Given the description of an element on the screen output the (x, y) to click on. 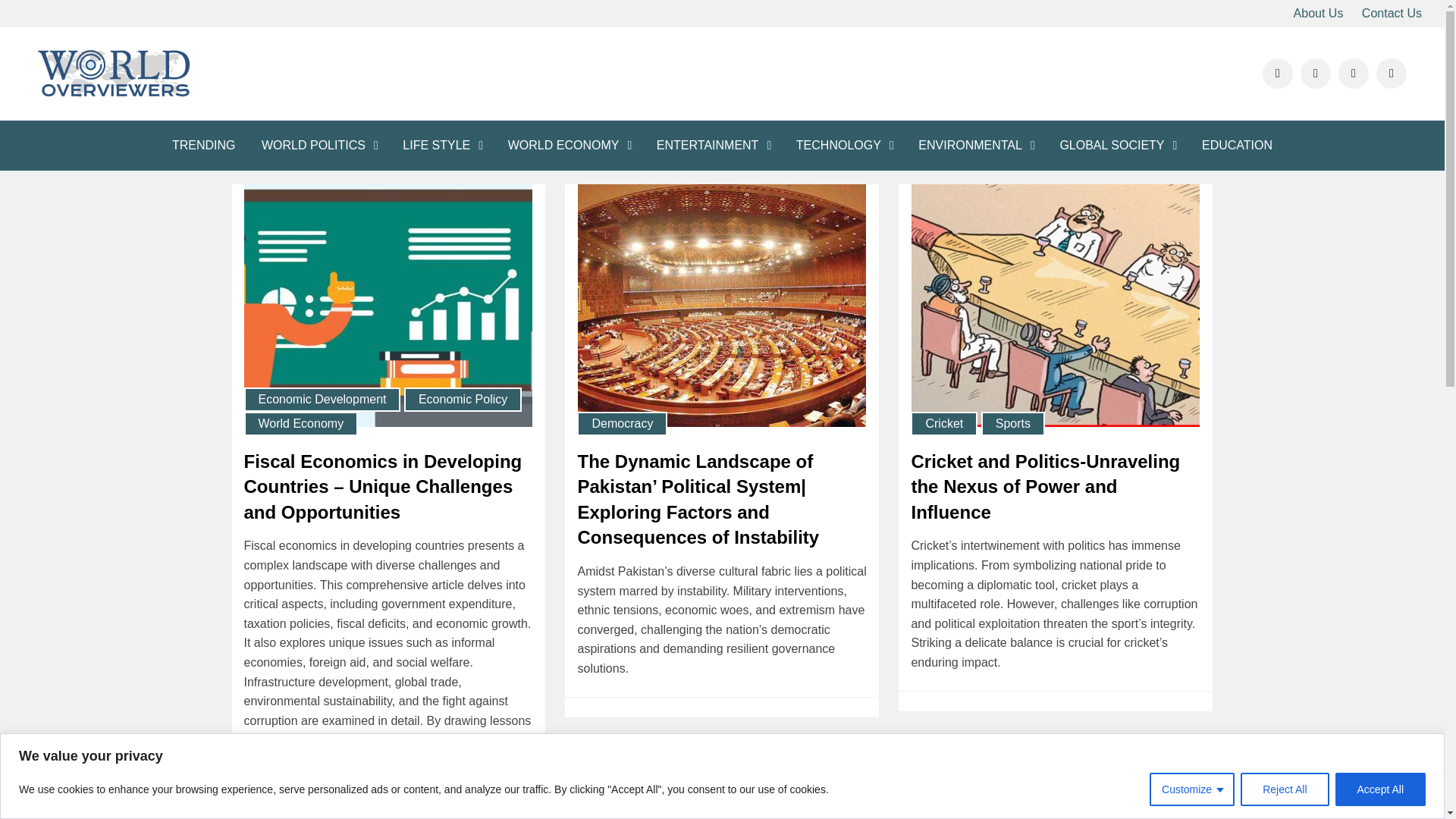
Reject All (1283, 788)
About Us (1318, 13)
Contact Us (1391, 13)
Customize (1192, 788)
WORLD POLITICS (319, 145)
TRENDING (203, 145)
WORLD OVERVIEWERS (189, 118)
Accept All (1380, 788)
LIFE STYLE (442, 145)
WORLD ECONOMY (569, 145)
